Given the description of an element on the screen output the (x, y) to click on. 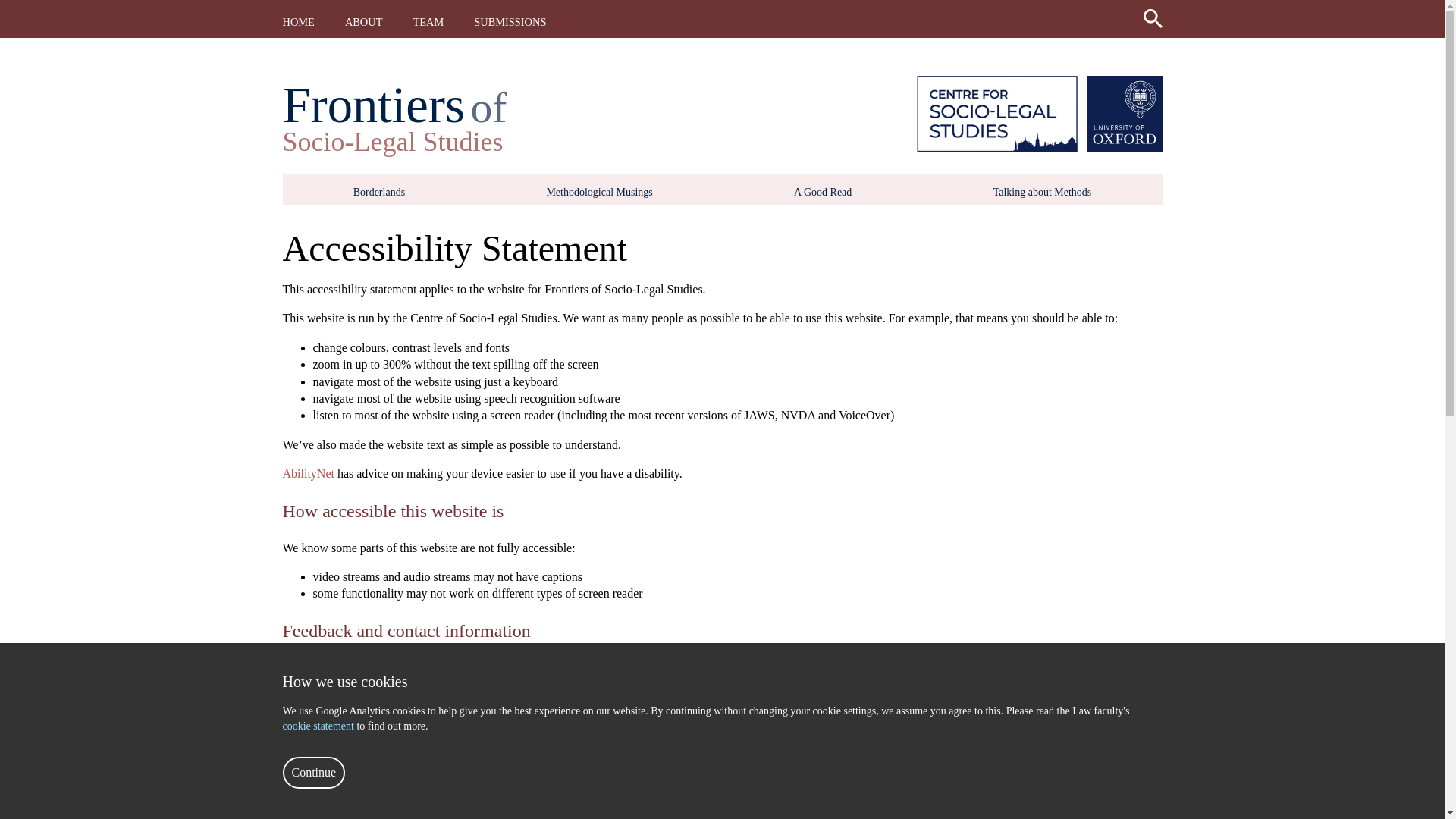
TEAM (428, 21)
ABOUT (363, 21)
Continue (313, 772)
Mobile search button (1151, 18)
A Good Read (822, 192)
SUBMISSIONS (510, 21)
Methodological Musings (599, 192)
Mobile search button (1151, 15)
cookie statement (319, 726)
Talking about Methods (1042, 192)
HOME (298, 21)
Borderlands (378, 192)
AbilityNet (307, 472)
